Given the description of an element on the screen output the (x, y) to click on. 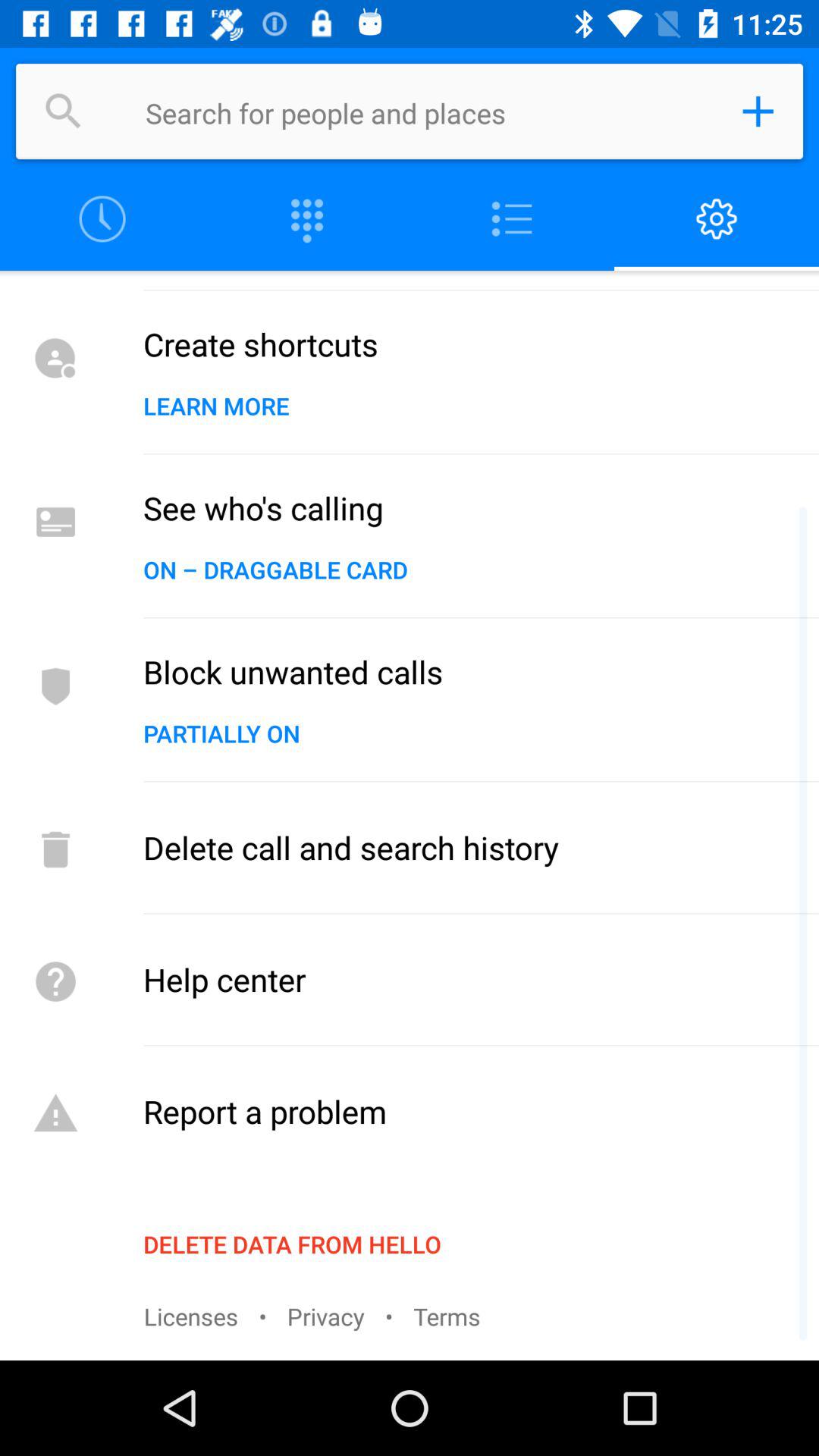
search (63, 111)
